Given the description of an element on the screen output the (x, y) to click on. 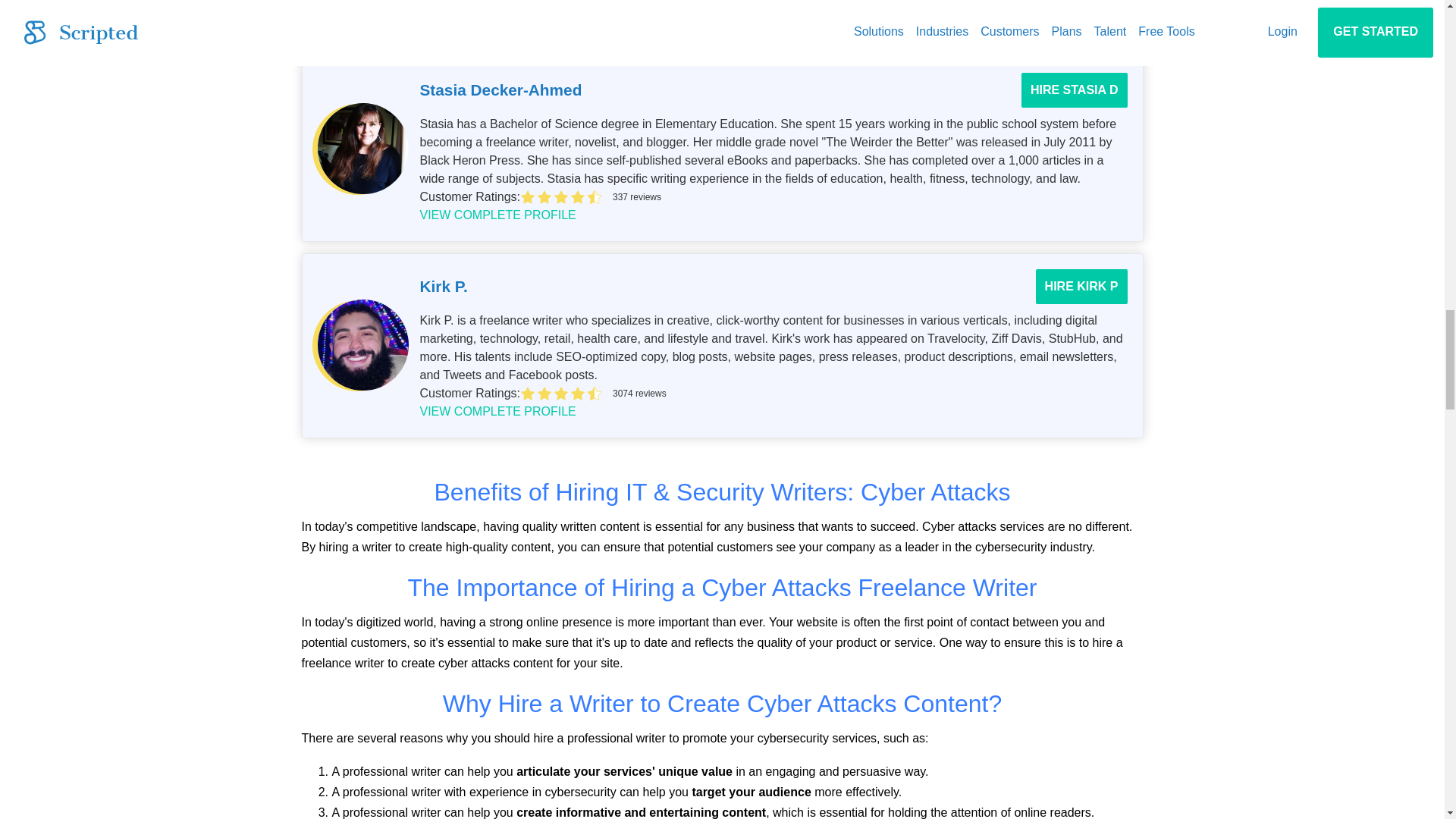
4.8 Average Rating (822, 392)
4.9 Average Rating (822, 3)
4.7 Average Rating (822, 196)
